Given the description of an element on the screen output the (x, y) to click on. 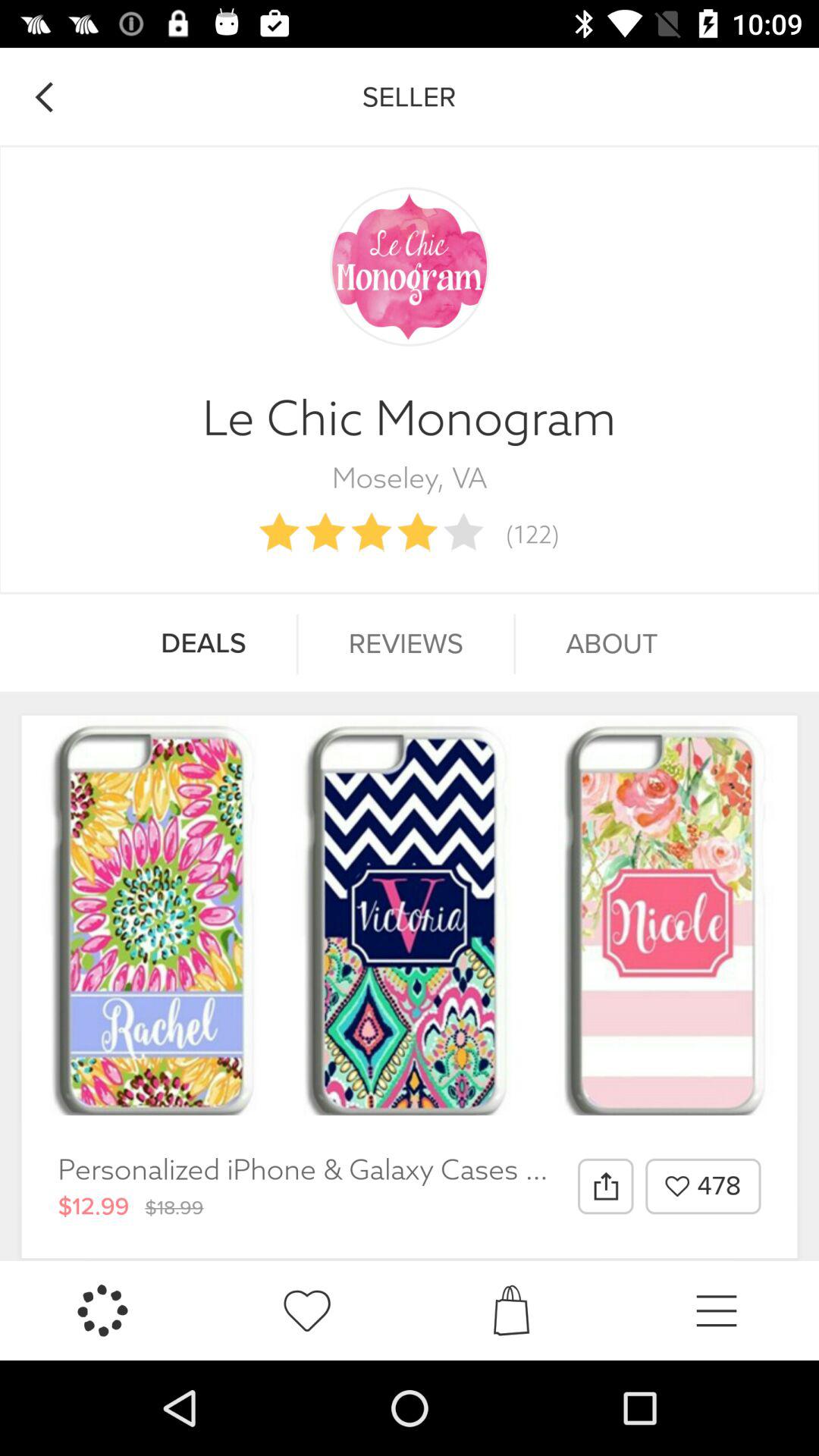
select the icon next to personalized iphone galaxy item (605, 1186)
